Given the description of an element on the screen output the (x, y) to click on. 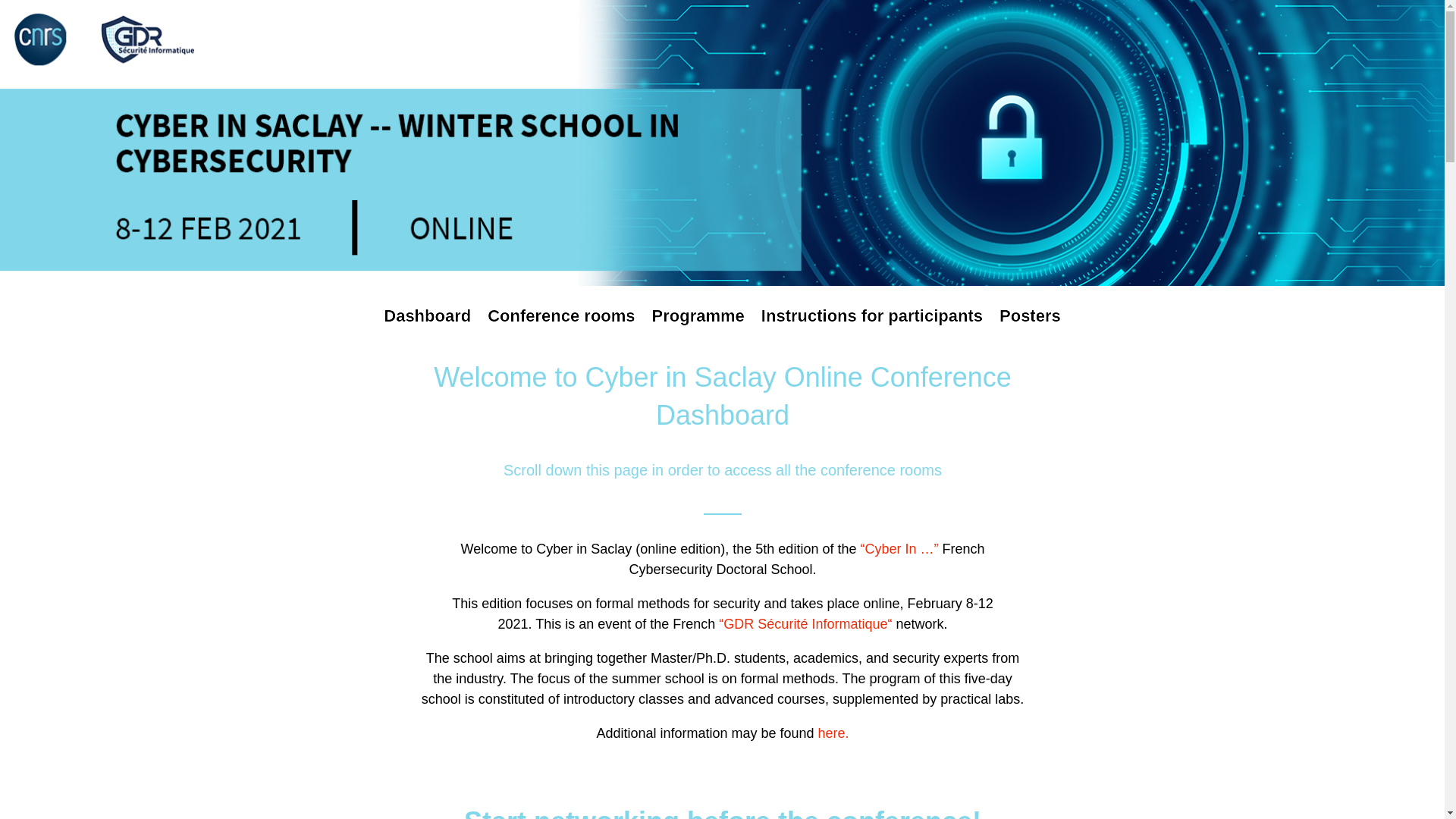
Instructions for participants (871, 327)
Dashboard (427, 327)
Conference rooms (560, 327)
Posters (1029, 327)
Programme (698, 327)
here. (831, 740)
